Given the description of an element on the screen output the (x, y) to click on. 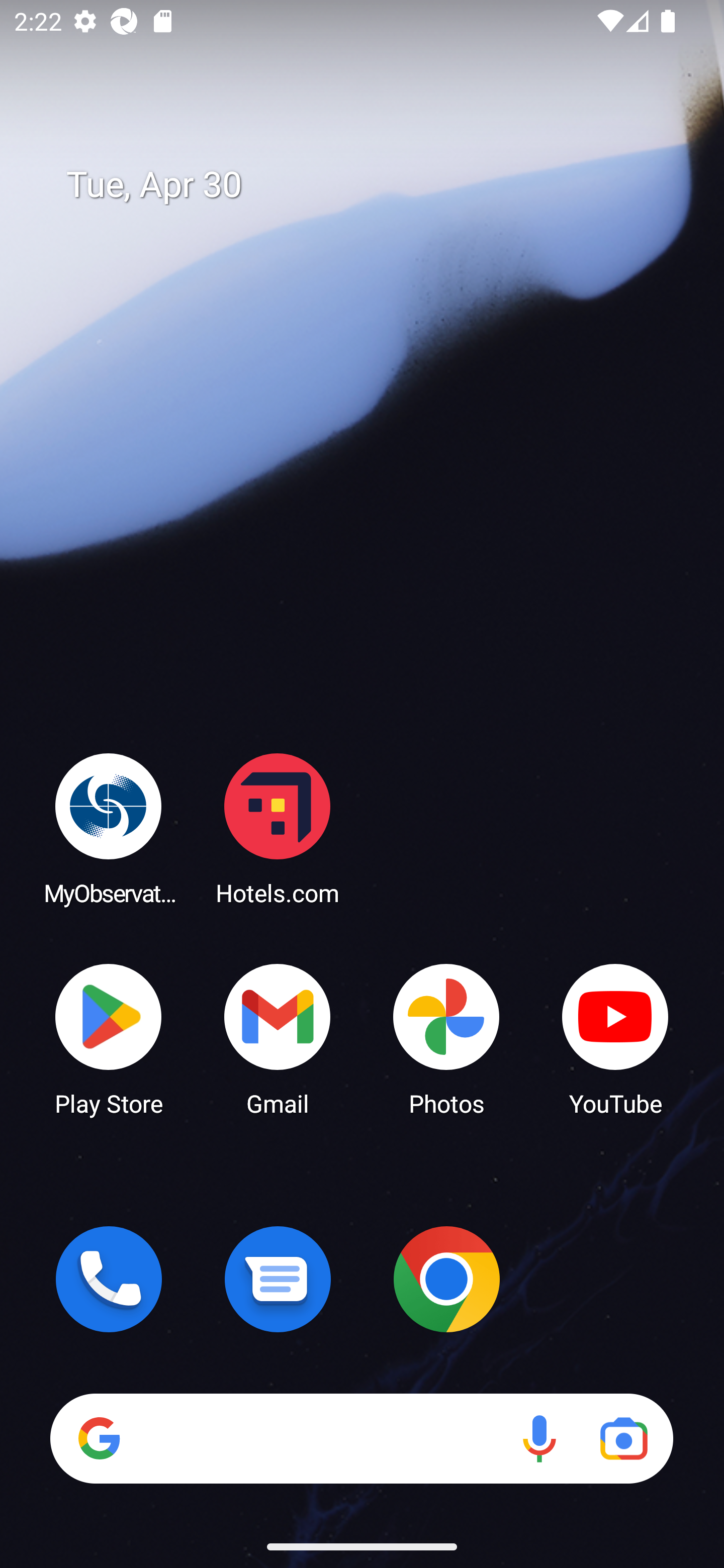
Tue, Apr 30 (375, 184)
MyObservatory (108, 828)
Hotels.com (277, 828)
Play Store (108, 1038)
Gmail (277, 1038)
Photos (445, 1038)
YouTube (615, 1038)
Phone (108, 1279)
Messages (277, 1279)
Chrome (446, 1279)
Voice search (539, 1438)
Google Lens (623, 1438)
